Given the description of an element on the screen output the (x, y) to click on. 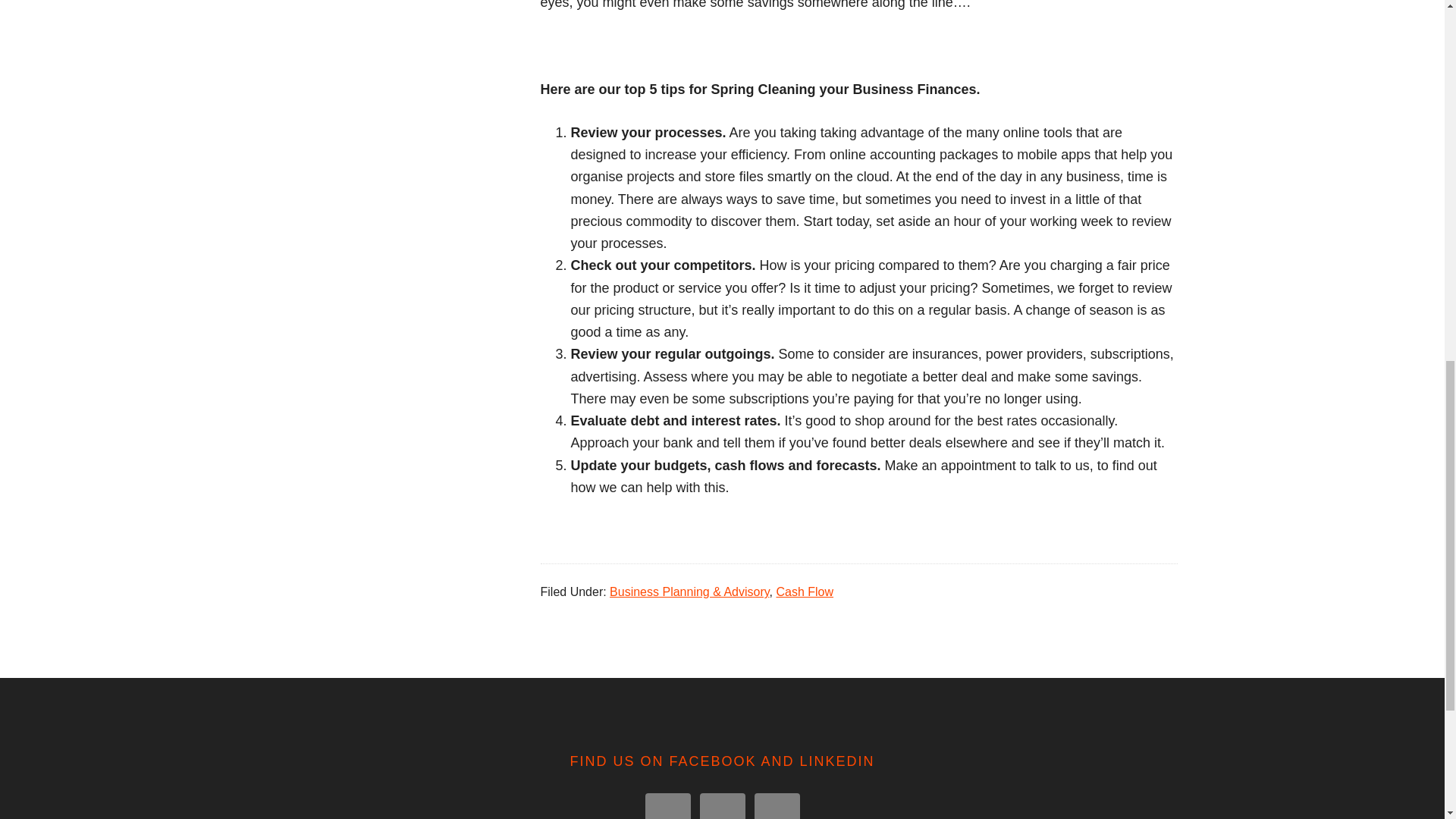
Cash Flow (804, 591)
